Given the description of an element on the screen output the (x, y) to click on. 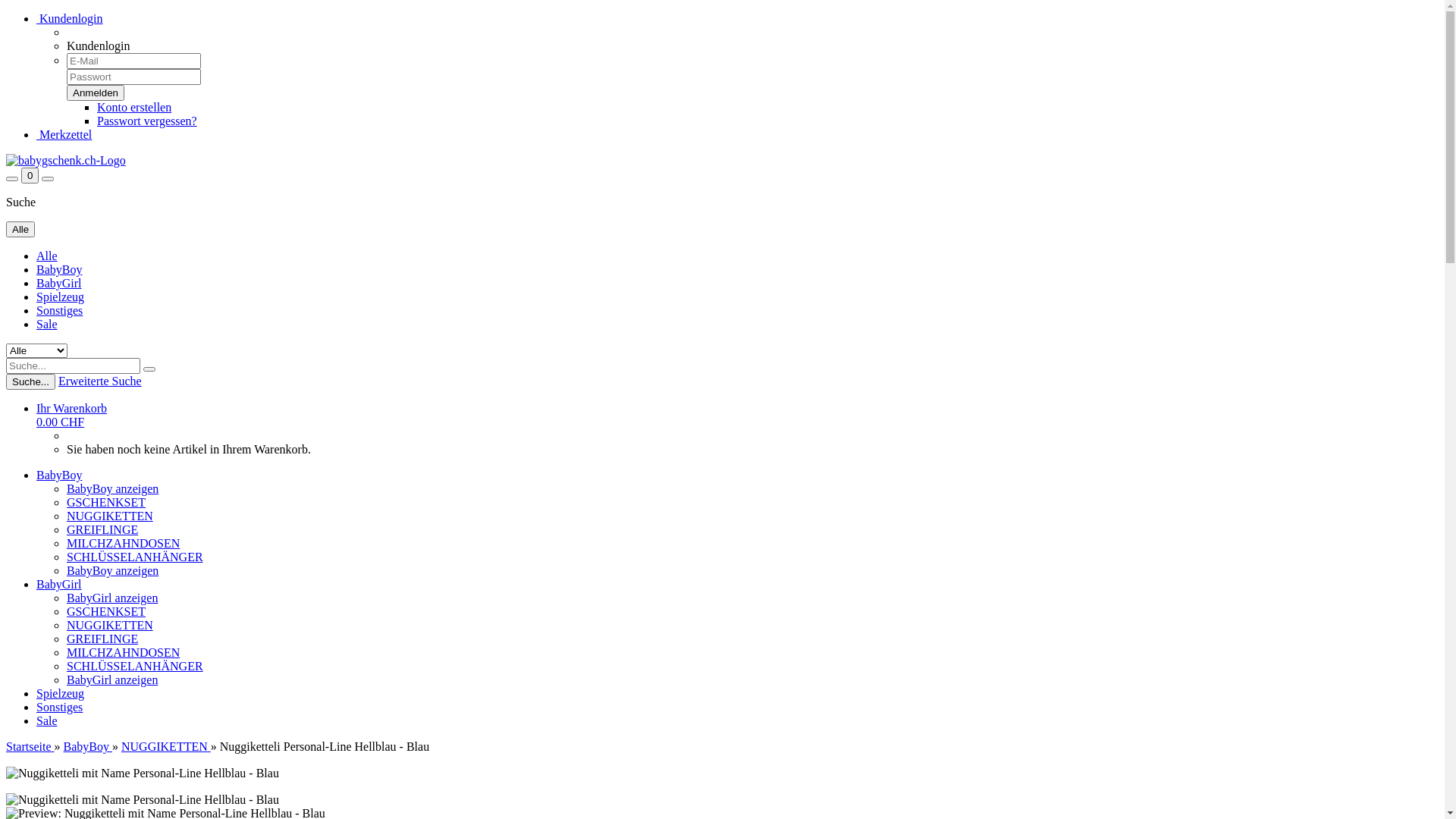
Anmelden Element type: text (95, 92)
Nuggiketteli mit Name Personal-Line Hellblau - Blau Element type: hover (142, 773)
Sonstiges Element type: text (59, 706)
Erweiterte Suche Element type: text (99, 380)
NUGGIKETTEN Element type: text (109, 515)
GREIFLINGE Element type: text (102, 638)
NUGGIKETTEN Element type: text (165, 746)
BabyGirl Element type: text (58, 282)
BabyBoy Element type: text (58, 269)
 Merkzettel Element type: text (63, 134)
Sale Element type: text (46, 323)
Alle Element type: text (20, 229)
NUGGIKETTEN Element type: text (109, 624)
Suche... Element type: text (30, 381)
MILCHZAHNDOSEN Element type: text (122, 542)
BabyBoy Element type: text (87, 746)
BabyGirl anzeigen Element type: text (111, 597)
Spielzeug Element type: text (60, 693)
GSCHENKSET Element type: text (105, 611)
GREIFLINGE Element type: text (102, 529)
BabyBoy anzeigen Element type: text (112, 570)
Spielzeug Element type: text (60, 296)
Konto erstellen Element type: text (134, 106)
BabyBoy Element type: text (58, 474)
BabyGirl anzeigen Element type: text (111, 679)
Startseite Element type: text (30, 746)
BabyGirl Element type: text (58, 583)
 Kundenlogin Element type: text (69, 18)
Alle Element type: text (46, 255)
babygschenk.ch Element type: hover (65, 159)
Nuggiketteli mit Name Personal-Line Hellblau - Blau Element type: hover (142, 799)
GSCHENKSET Element type: text (105, 501)
MILCHZAHNDOSEN Element type: text (122, 652)
BabyBoy anzeigen Element type: text (112, 488)
Passwort vergessen? Element type: text (147, 120)
Sonstiges Element type: text (59, 310)
Sale Element type: text (46, 720)
Ihr Warenkorb
0.00 CHF Element type: text (71, 414)
0 Element type: text (29, 175)
